Given the description of an element on the screen output the (x, y) to click on. 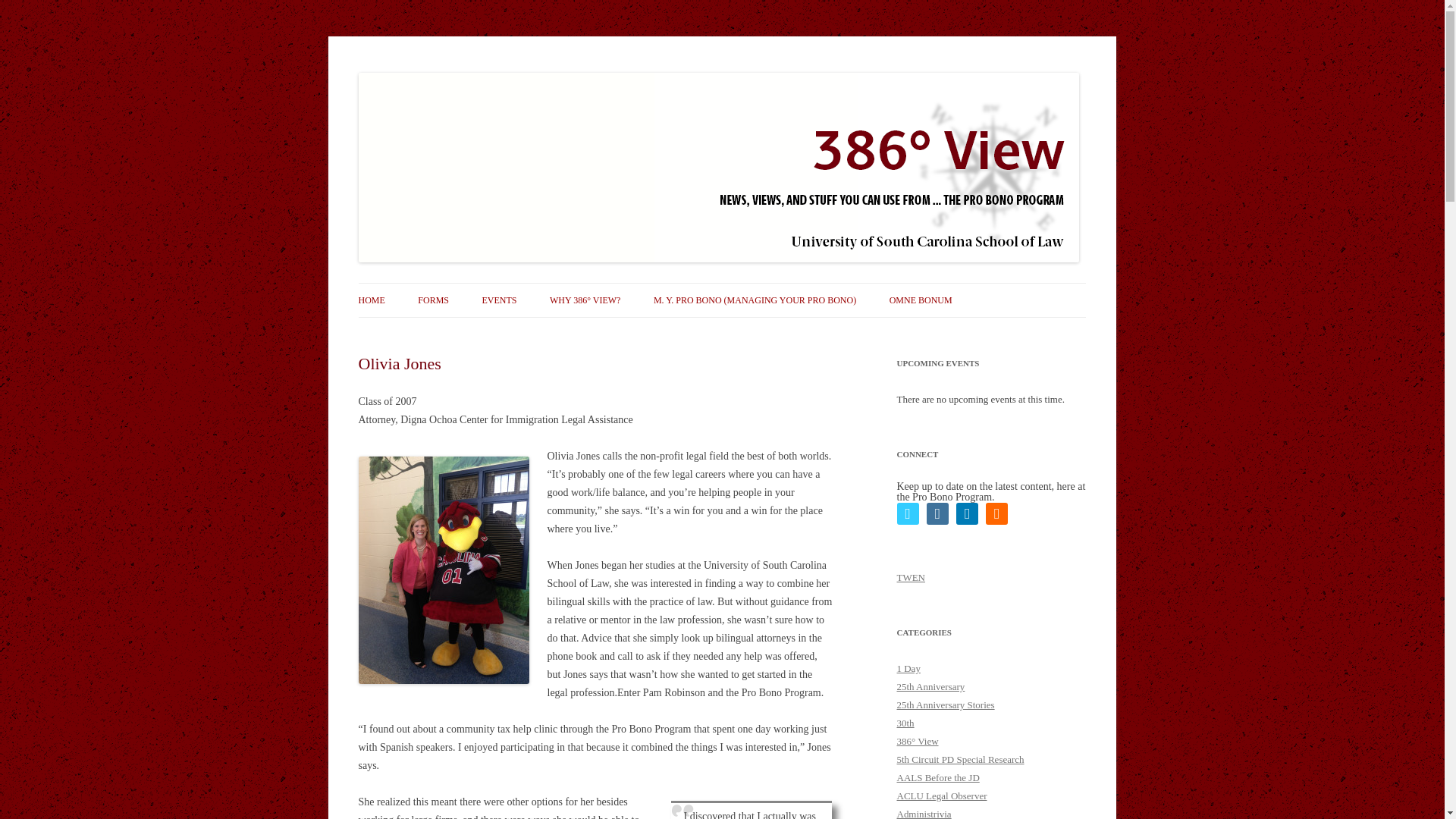
AALS Before the JD (937, 777)
EVENTS (498, 299)
5th Circuit PD Special Research (959, 758)
TWEN (910, 577)
Subscribe via RSS (996, 513)
1 Day (908, 668)
30th (905, 722)
Pro Bono Program (437, 72)
ACLU Legal Observer (941, 795)
Administrivia (923, 813)
25th Anniversary Stories (945, 704)
ALUMNI CONTACT (493, 332)
Pro Bono Program (437, 72)
